Given the description of an element on the screen output the (x, y) to click on. 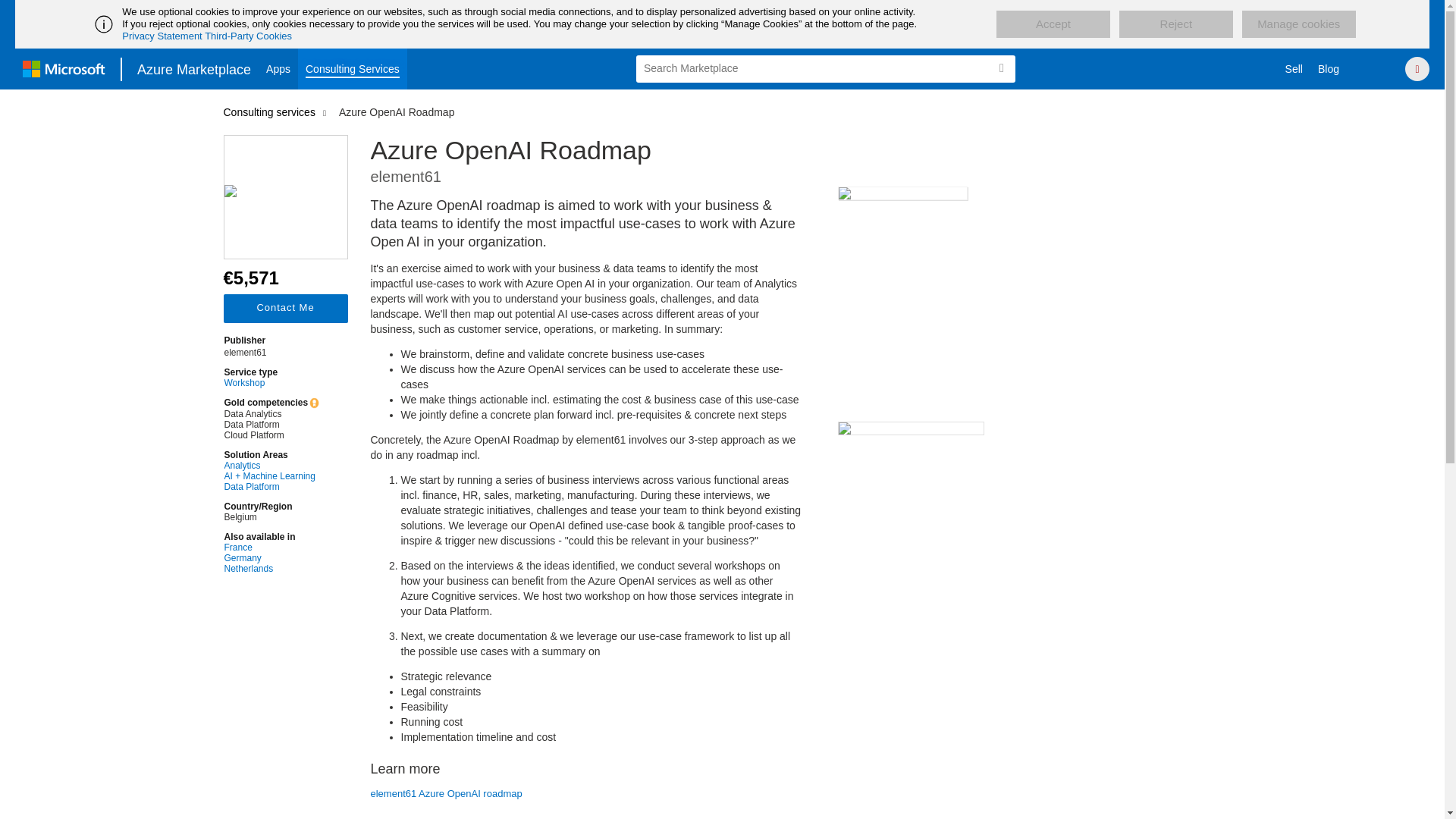
Third-Party Cookies (248, 35)
Azure Marketplace (194, 68)
Privacy Statement (162, 35)
Consulting Services (352, 68)
Reject (1176, 23)
Feedback (1377, 68)
Search  (1001, 68)
Accept (1052, 23)
Blog (1328, 68)
Search (1001, 68)
Manage cookies (1298, 23)
Apps (278, 68)
